Given the description of an element on the screen output the (x, y) to click on. 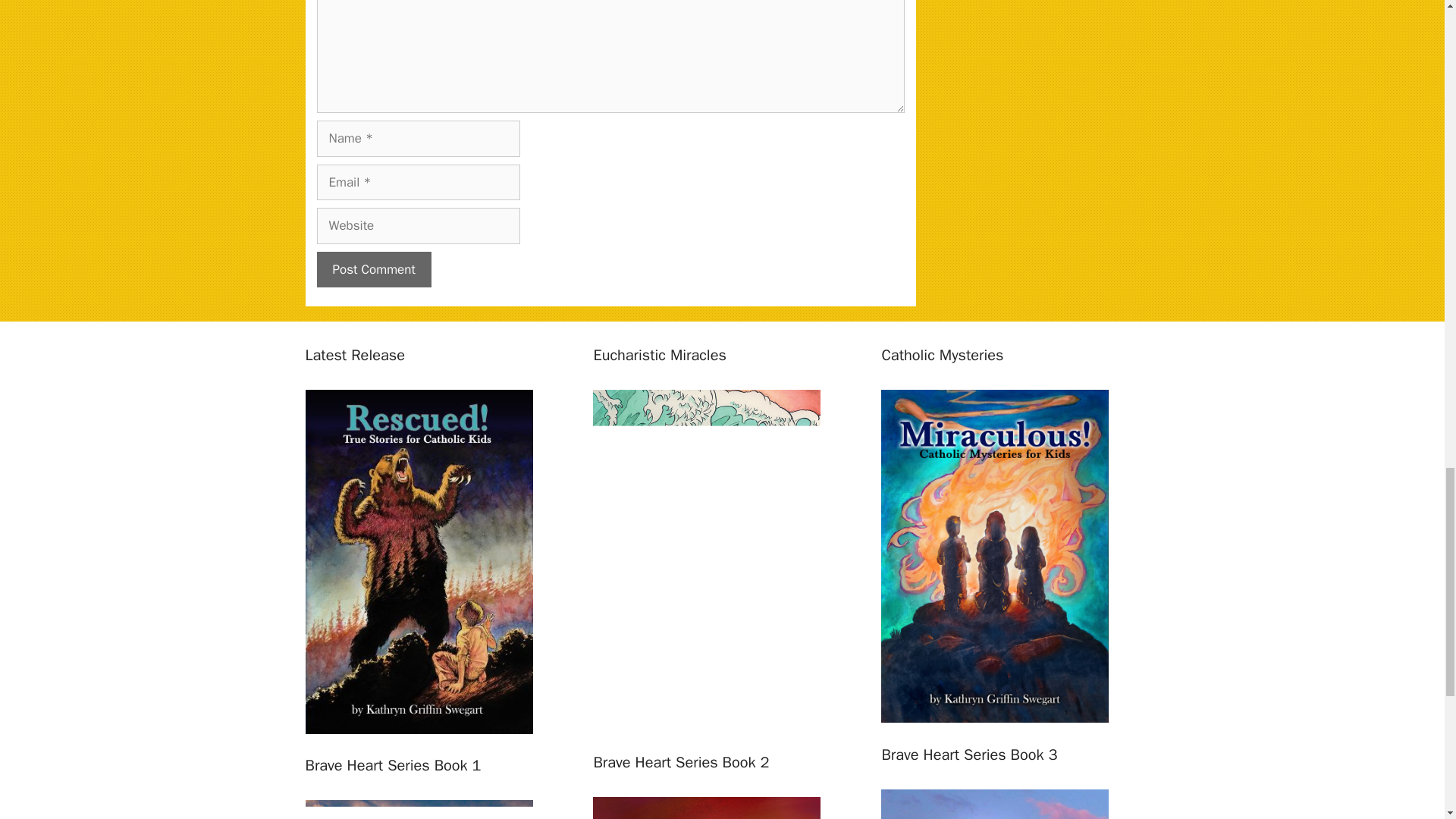
Brave Heart Series Book 2 (706, 807)
Post Comment (373, 269)
Post Comment (373, 269)
Brave Heart Series Book 3 (994, 804)
